Given the description of an element on the screen output the (x, y) to click on. 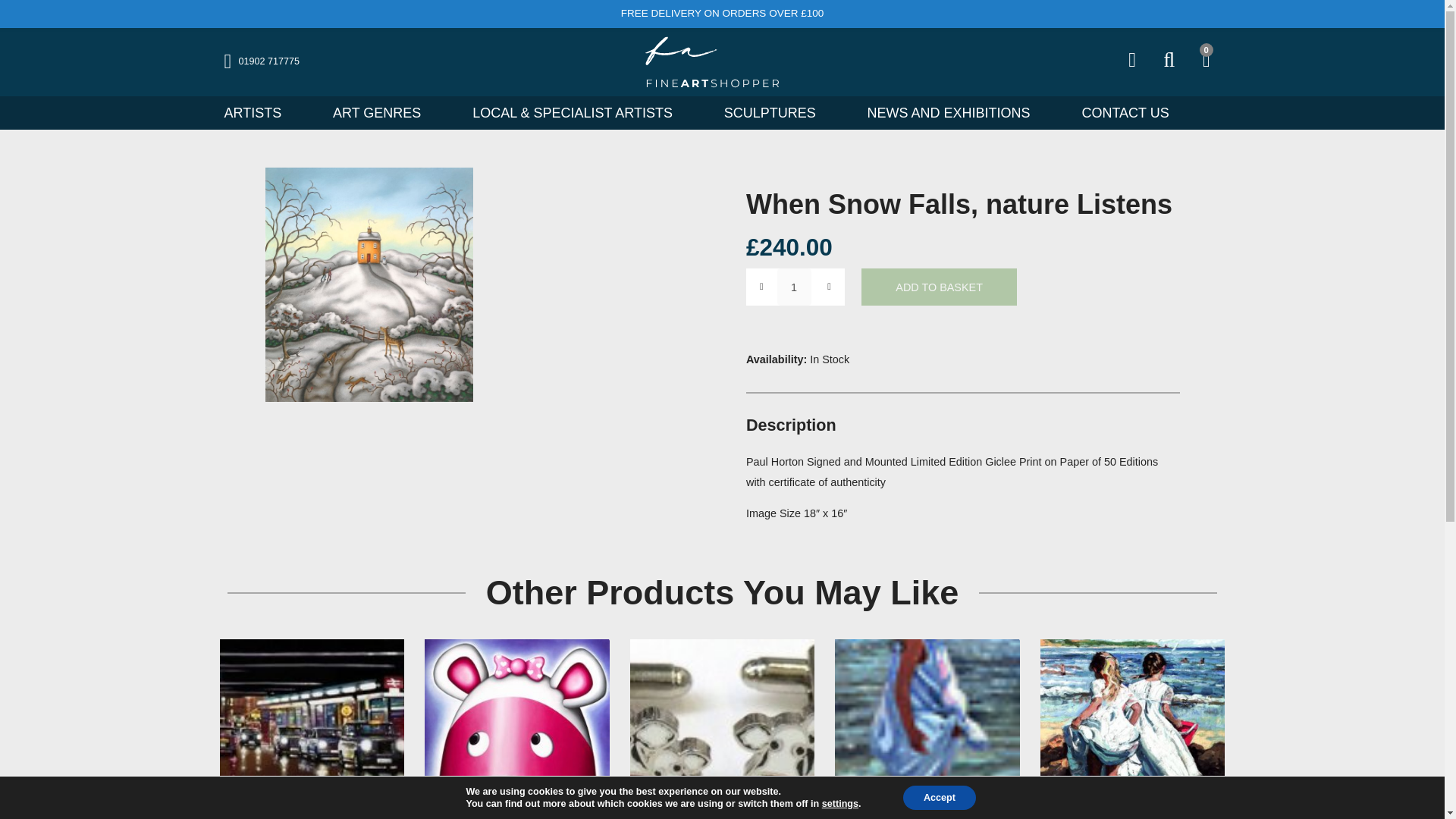
When-Snow-Falls (409, 315)
01902 717775 (289, 68)
1 (882, 318)
ARTISTS (280, 125)
